Given the description of an element on the screen output the (x, y) to click on. 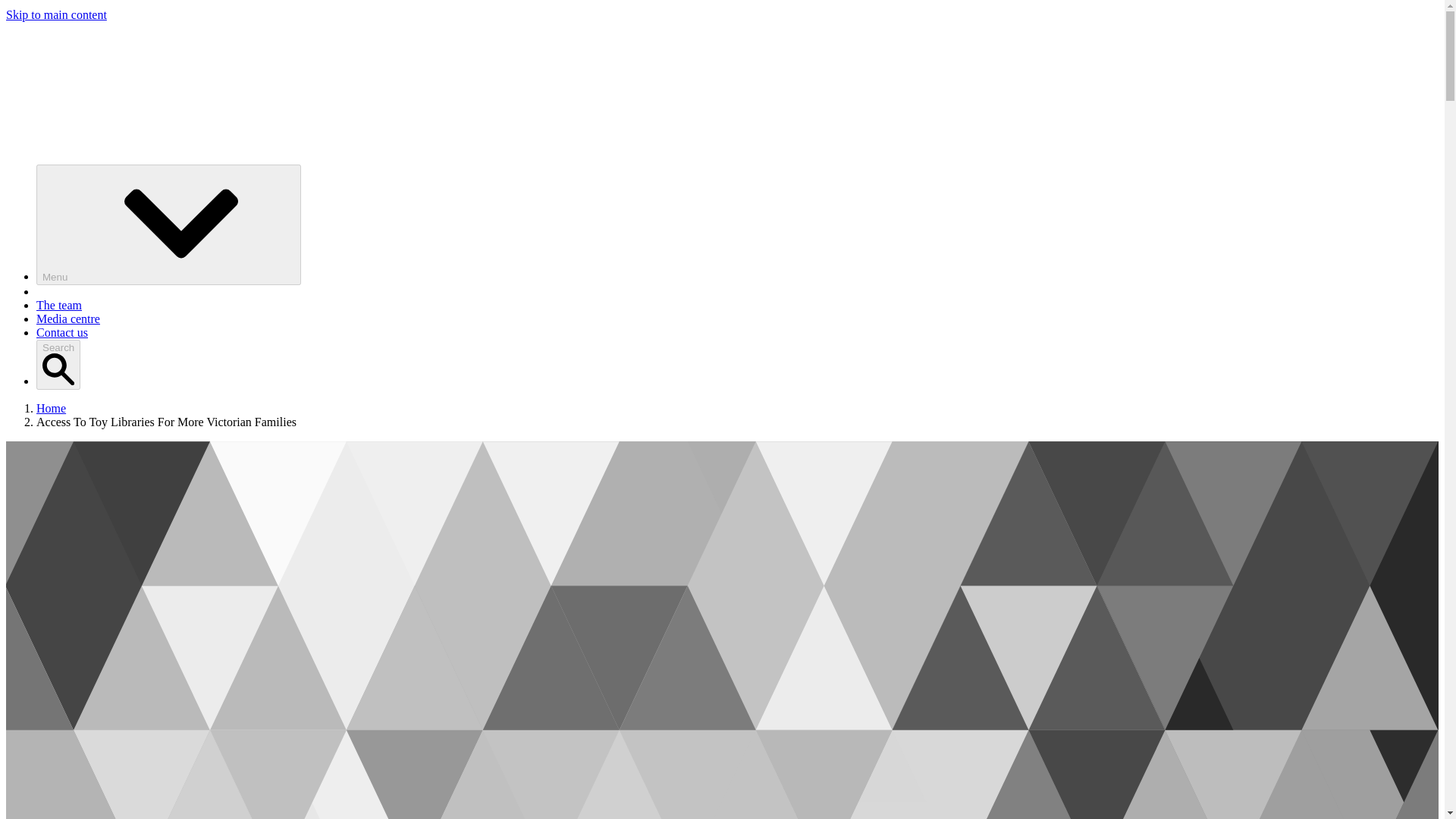
The team (58, 305)
Media centre (68, 318)
Home (50, 408)
Skip to main content (55, 14)
Contact us (61, 332)
